Given the description of an element on the screen output the (x, y) to click on. 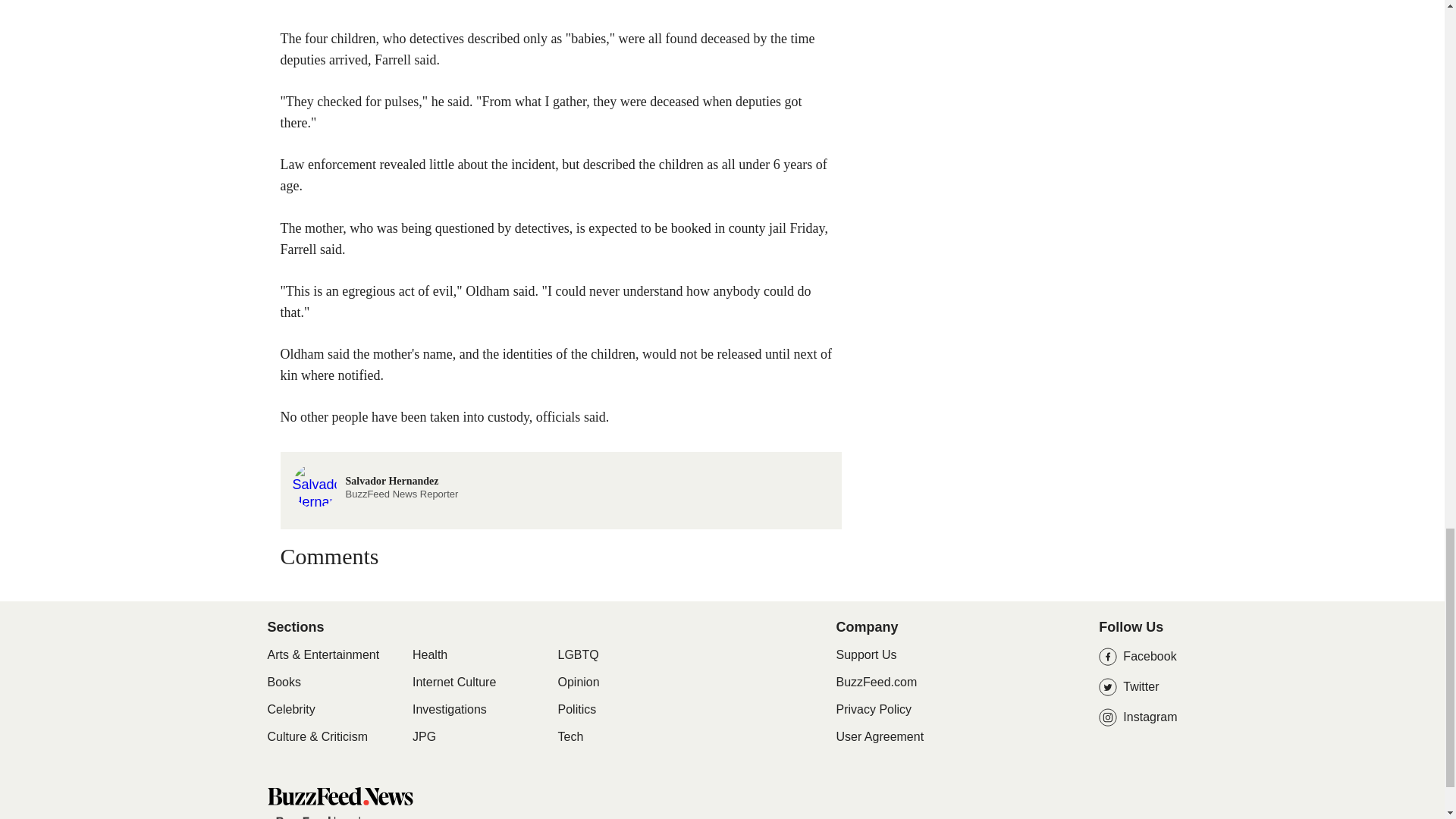
Celebrity (290, 709)
Politics (576, 709)
Tech (375, 484)
JPG (570, 736)
Investigations (423, 736)
Books (449, 709)
Opinion (282, 682)
BuzzFeed (578, 682)
Support Us (303, 817)
